Given the description of an element on the screen output the (x, y) to click on. 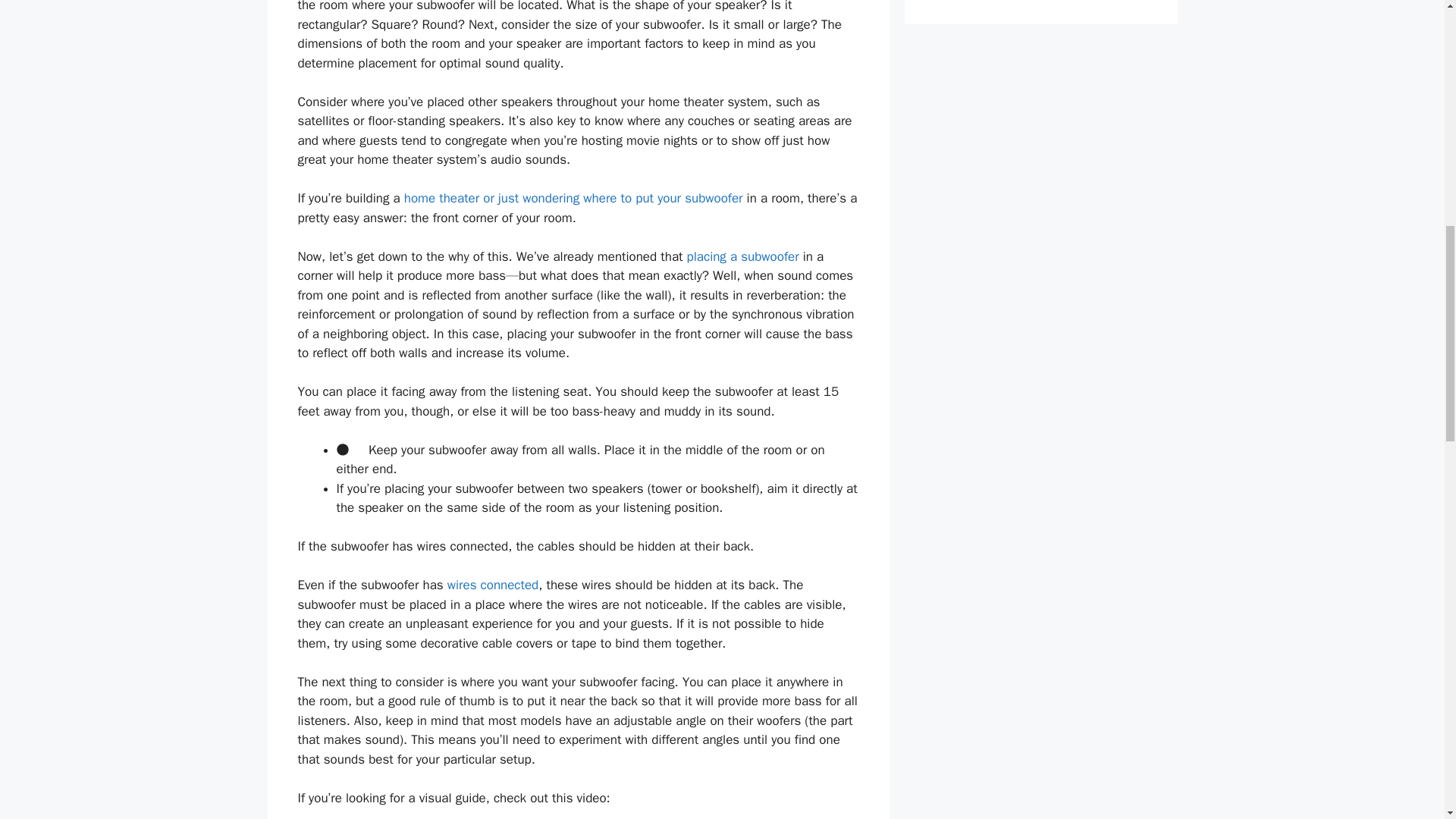
placing a subwoofer (743, 256)
home theater or just wondering where to put your subwoofer (573, 198)
wires connected (492, 584)
